Given the description of an element on the screen output the (x, y) to click on. 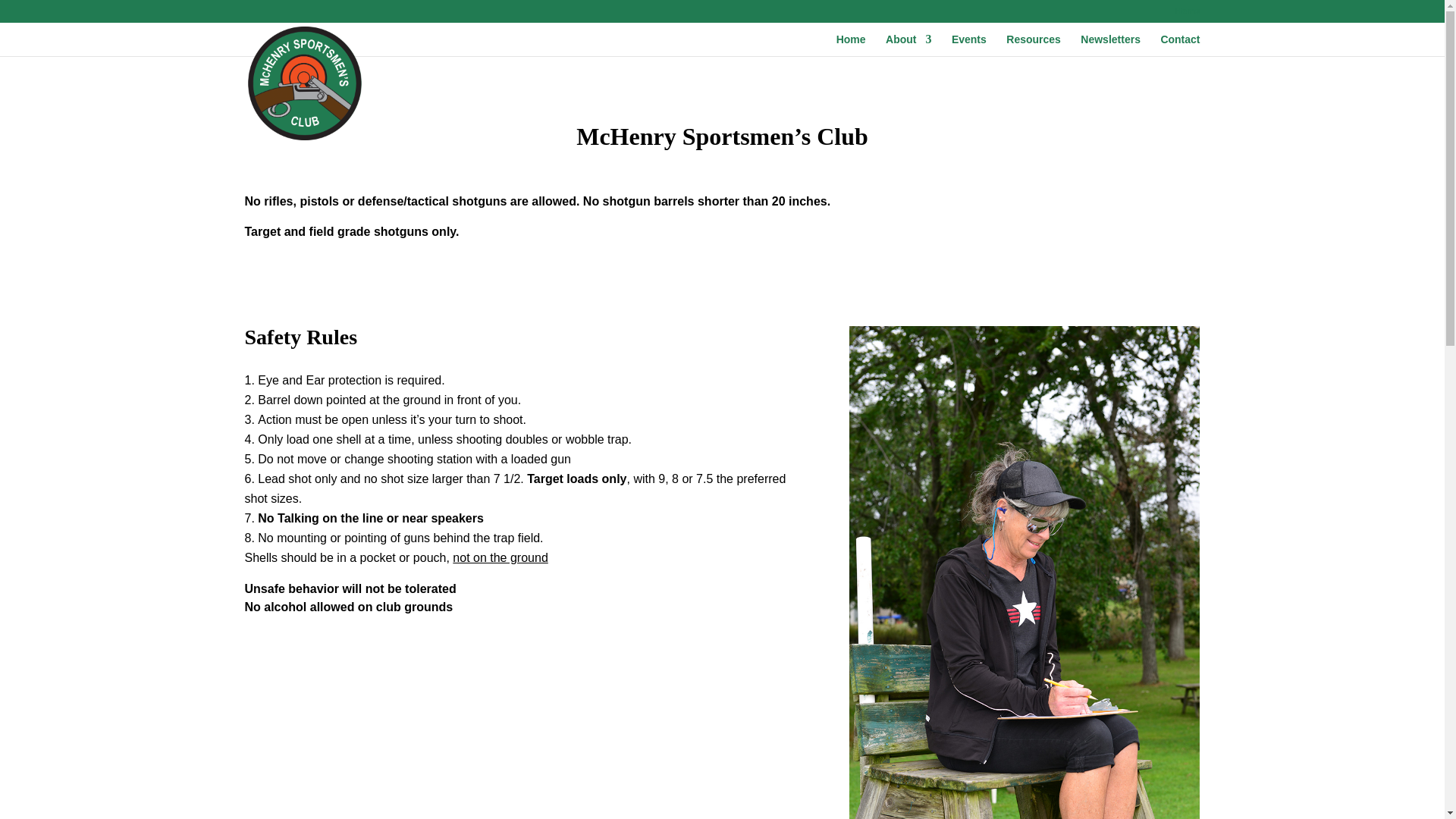
Resources (1033, 45)
Home (1186, 14)
About (908, 45)
Home (850, 45)
Events (969, 45)
Contact (1179, 45)
Newsletters (1110, 45)
